Given the description of an element on the screen output the (x, y) to click on. 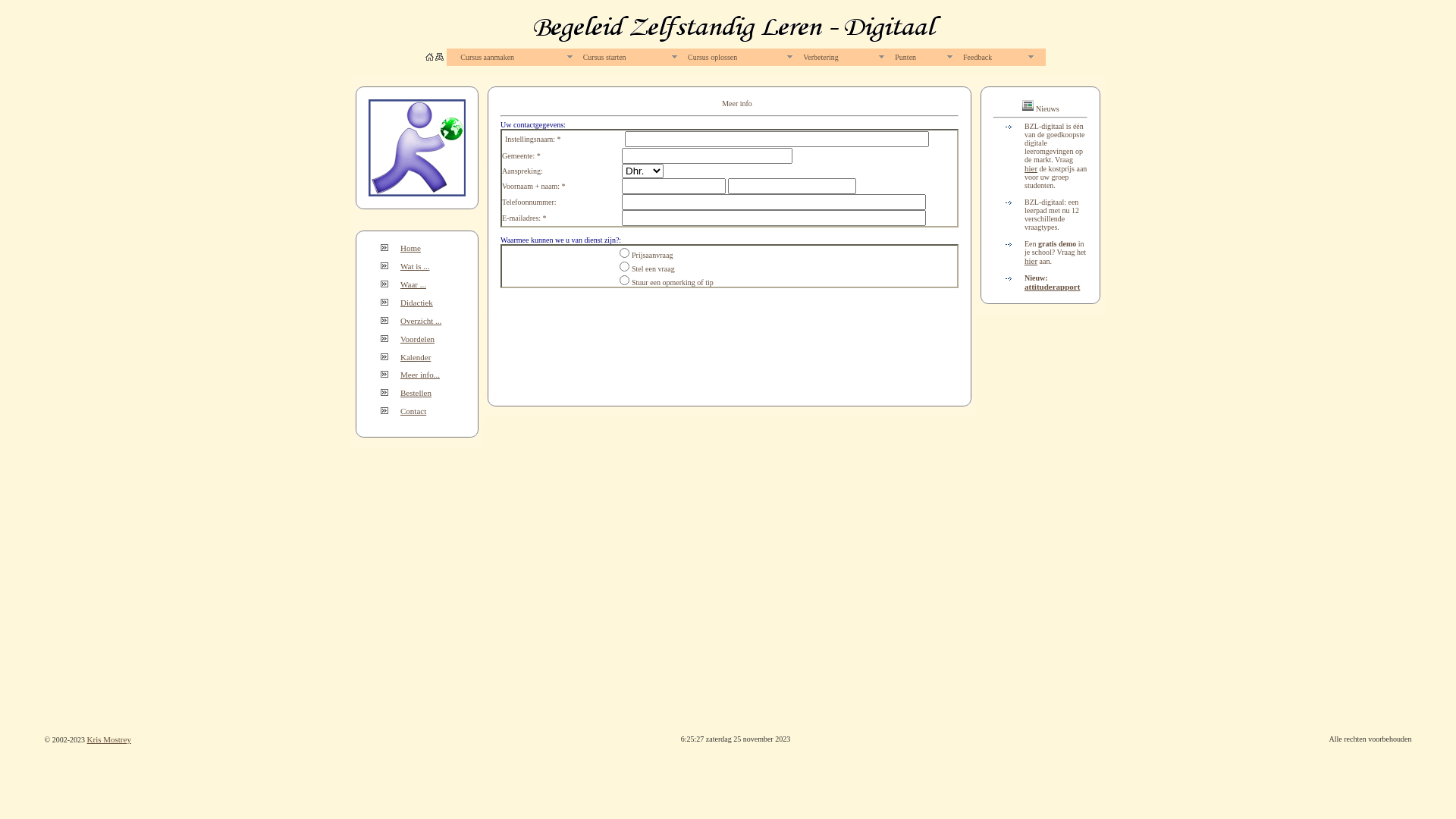
Bestellen Element type: text (415, 392)
Cursus starten Element type: text (629, 56)
Voordelen Element type: text (417, 338)
Waar ... Element type: text (413, 283)
Feedback Element type: text (997, 56)
hier Element type: text (1030, 260)
Meer info... Element type: text (419, 374)
Kalender Element type: text (415, 356)
tip Element type: text (624, 280)
Contact Element type: text (413, 410)
prijs Element type: text (624, 252)
Kris Mostrey Element type: text (109, 738)
Overzicht ... Element type: text (420, 320)
attituderapport Element type: text (1051, 286)
Home Element type: text (410, 247)
Cursus oplossen Element type: text (739, 56)
Cursus aanmaken Element type: text (515, 56)
Verbetering Element type: text (842, 56)
Didactiek Element type: text (416, 302)
vraag Element type: text (624, 266)
hier Element type: text (1030, 167)
Wat is ... Element type: text (414, 265)
Punten Element type: text (922, 56)
